Given the description of an element on the screen output the (x, y) to click on. 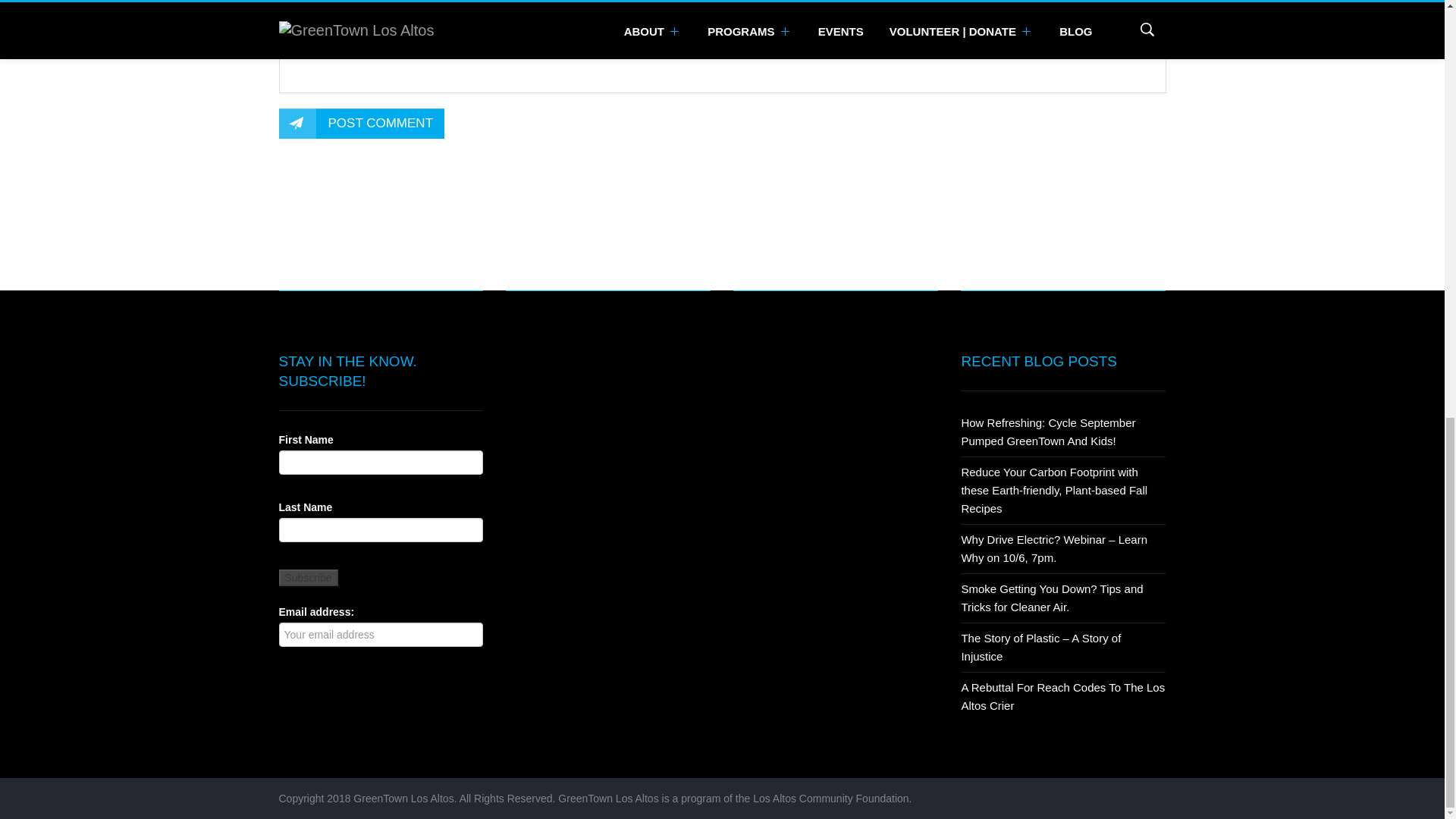
Subscribe (308, 577)
